Given the description of an element on the screen output the (x, y) to click on. 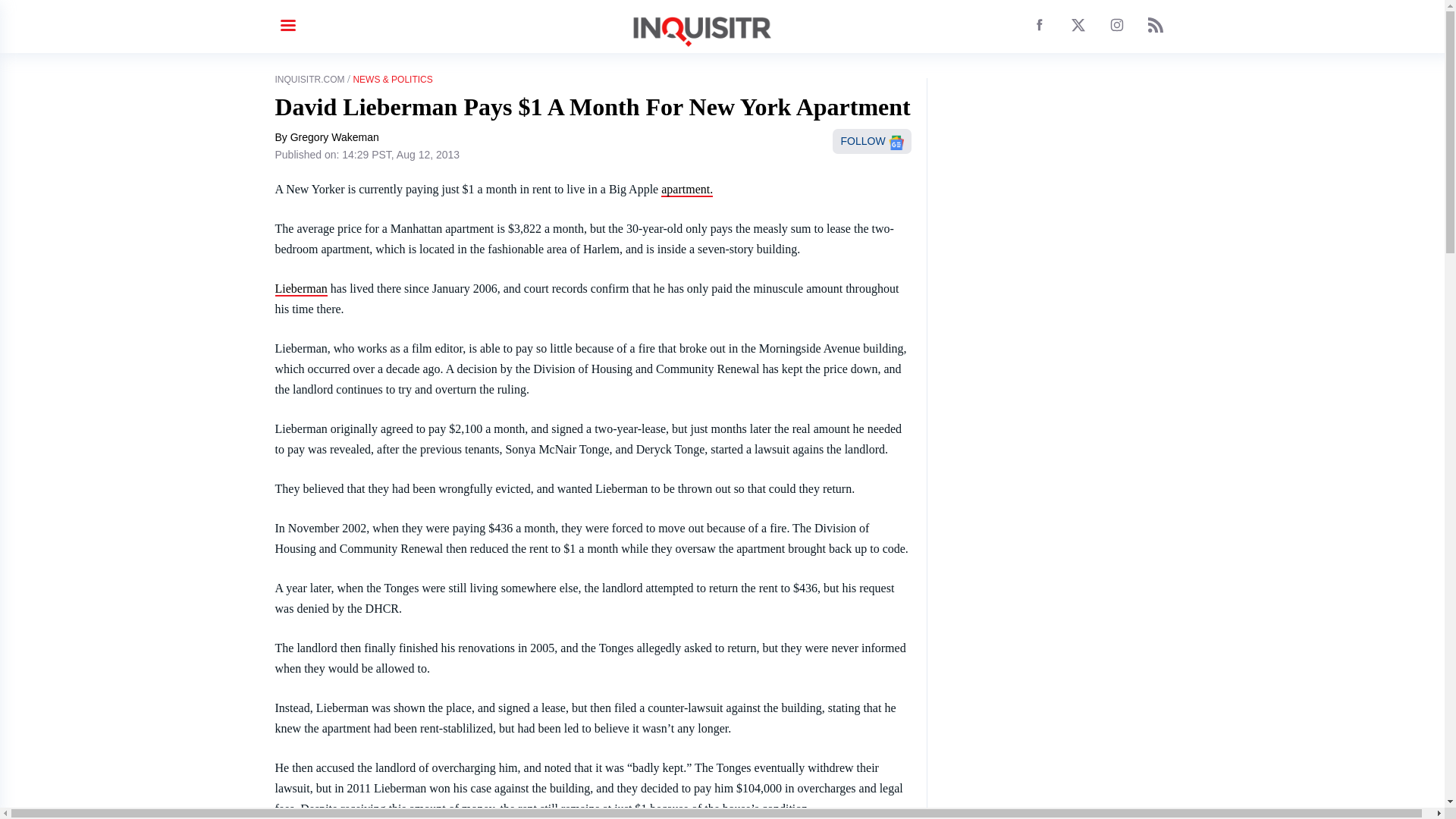
INQUISITR.COM (309, 79)
Inquisitr (687, 189)
DNA Info (300, 288)
